Given the description of an element on the screen output the (x, y) to click on. 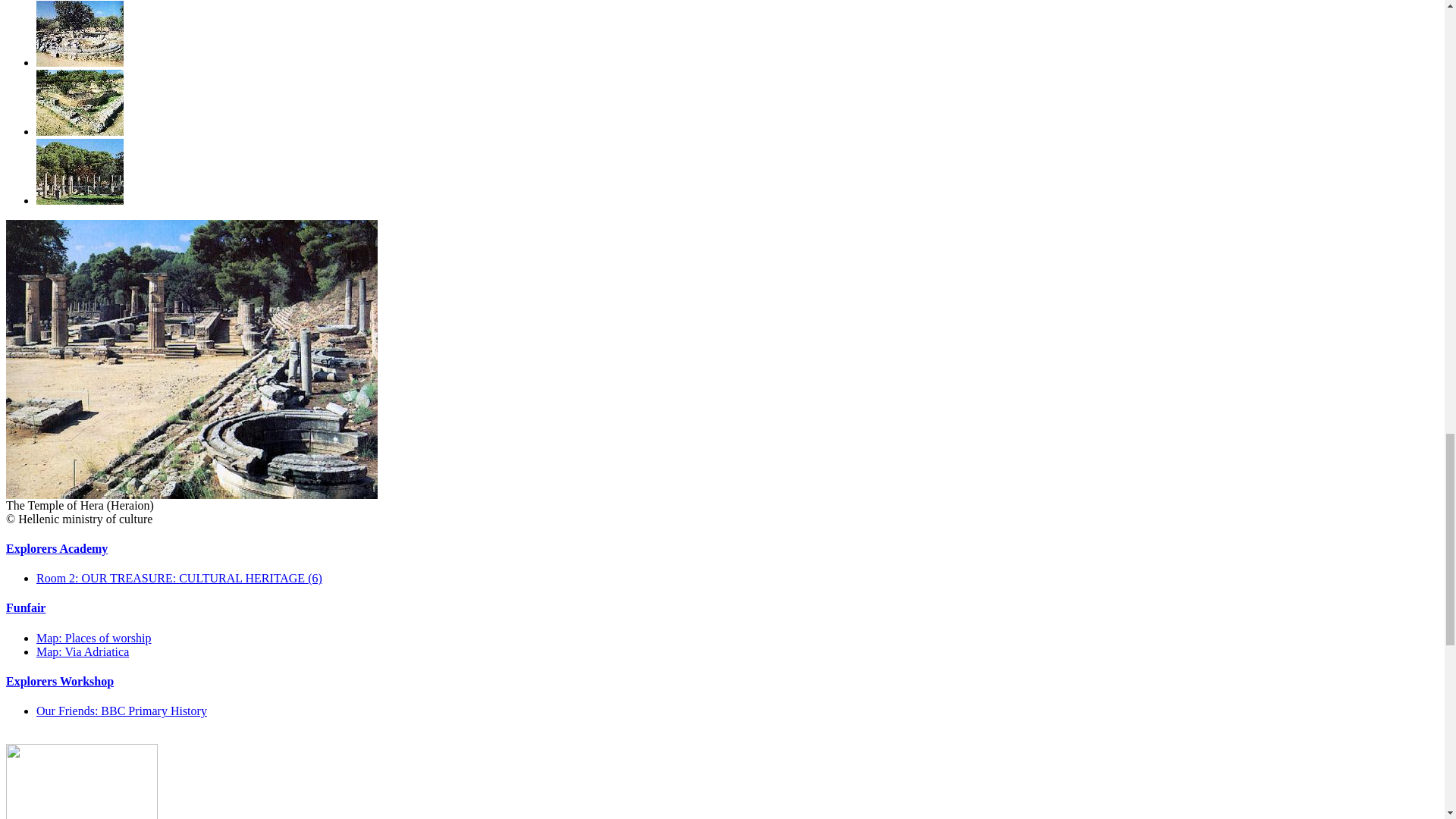
Map: Via Adriatica (82, 651)
Our Friends: BBC Primary History (121, 710)
Explorers Academy (56, 548)
Funfair (25, 607)
Map: Places of worship (93, 637)
Explorers Workshop (59, 680)
